Given the description of an element on the screen output the (x, y) to click on. 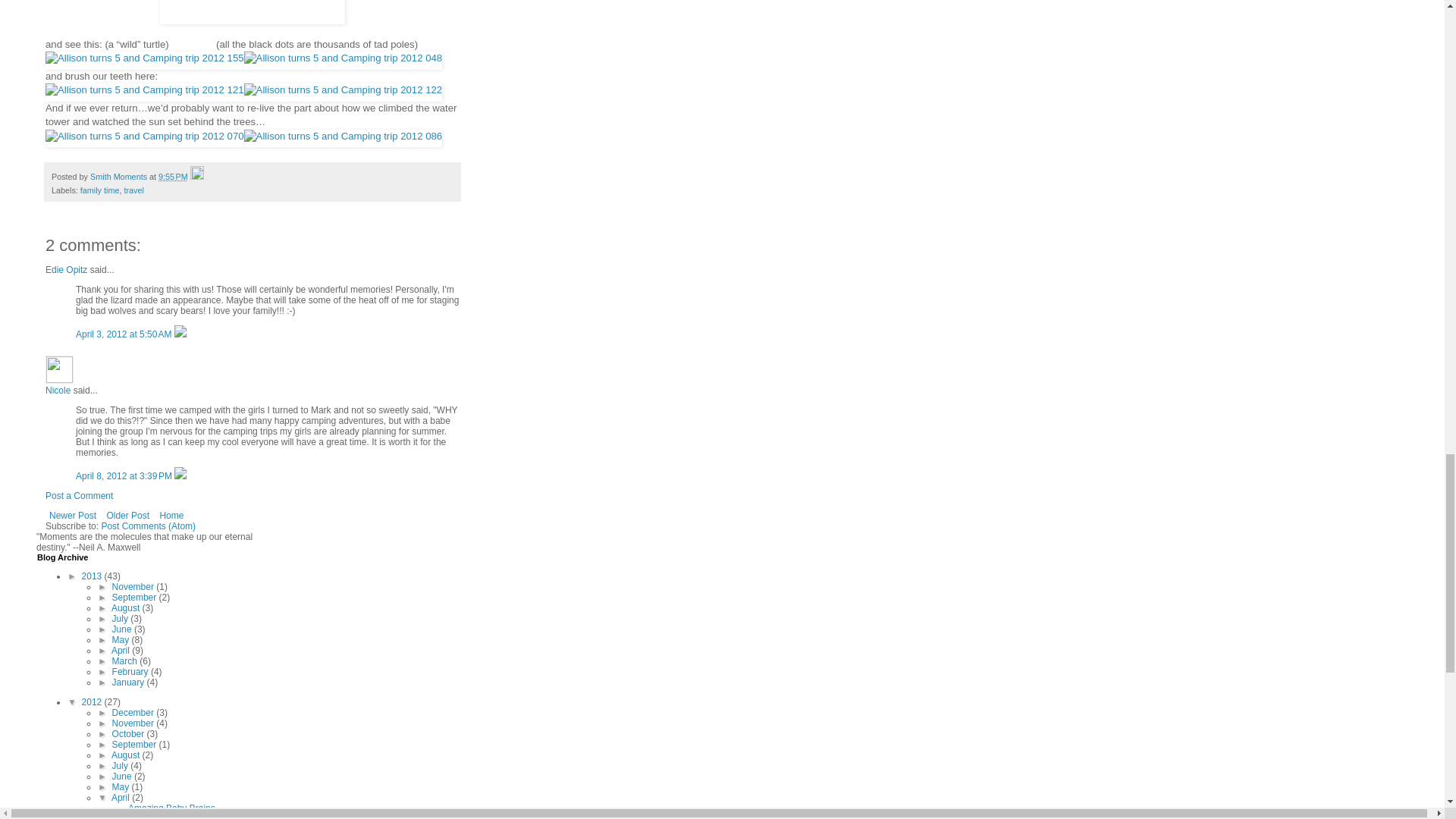
family time (99, 189)
Smith Moments (119, 175)
travel (132, 189)
Edie Opitz (66, 269)
